Given the description of an element on the screen output the (x, y) to click on. 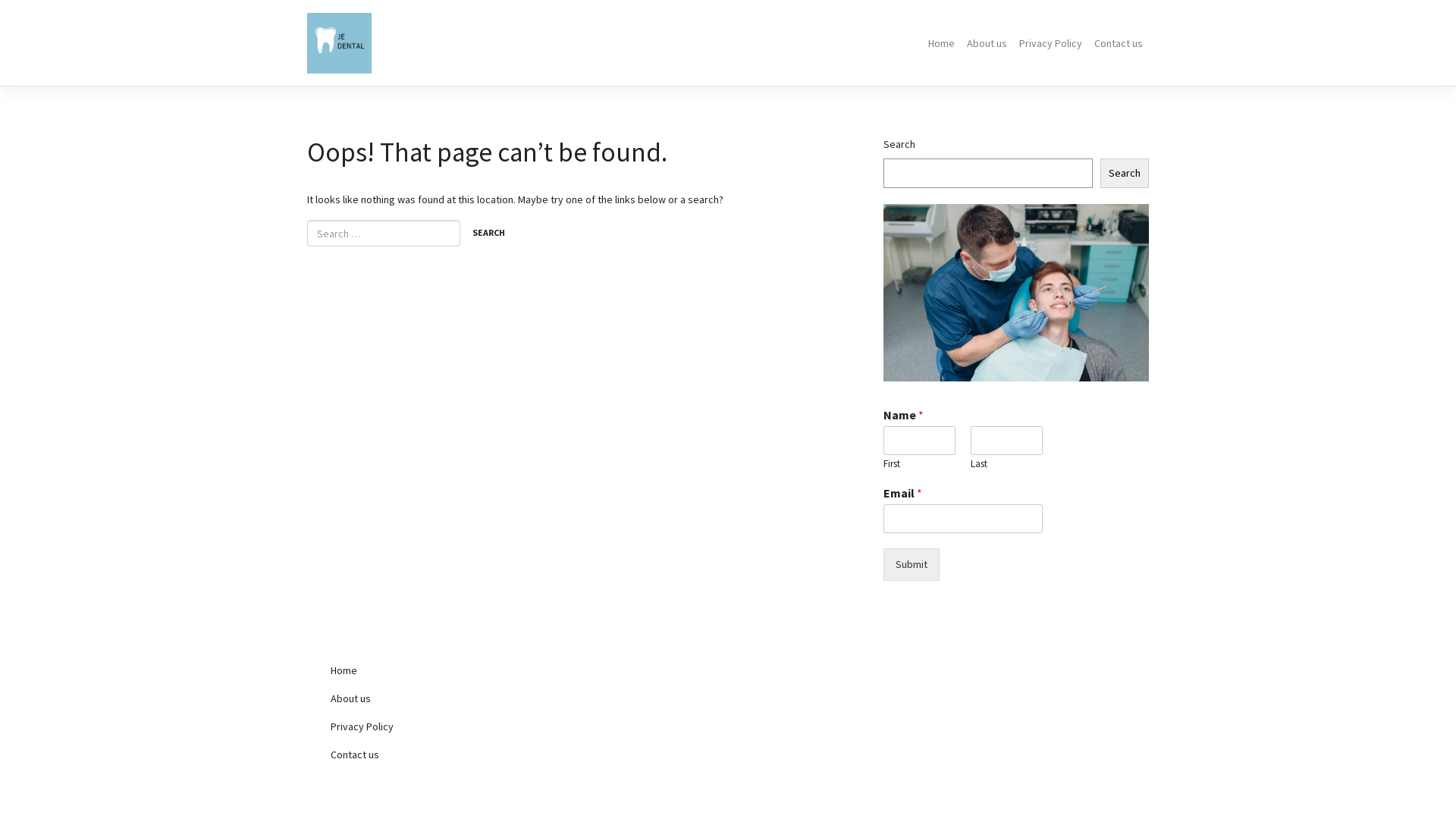
Privacy Policy Element type: text (447, 726)
Search Element type: text (1124, 173)
Contact us Element type: text (1118, 43)
Home Element type: text (447, 670)
Privacy Policy Element type: text (1050, 43)
About us Element type: text (447, 698)
About us Element type: text (986, 43)
Search Element type: text (488, 234)
Home Element type: text (941, 43)
Submit Element type: text (911, 564)
Search for: Element type: hover (383, 232)
Contact us Element type: text (447, 754)
